Given the description of an element on the screen output the (x, y) to click on. 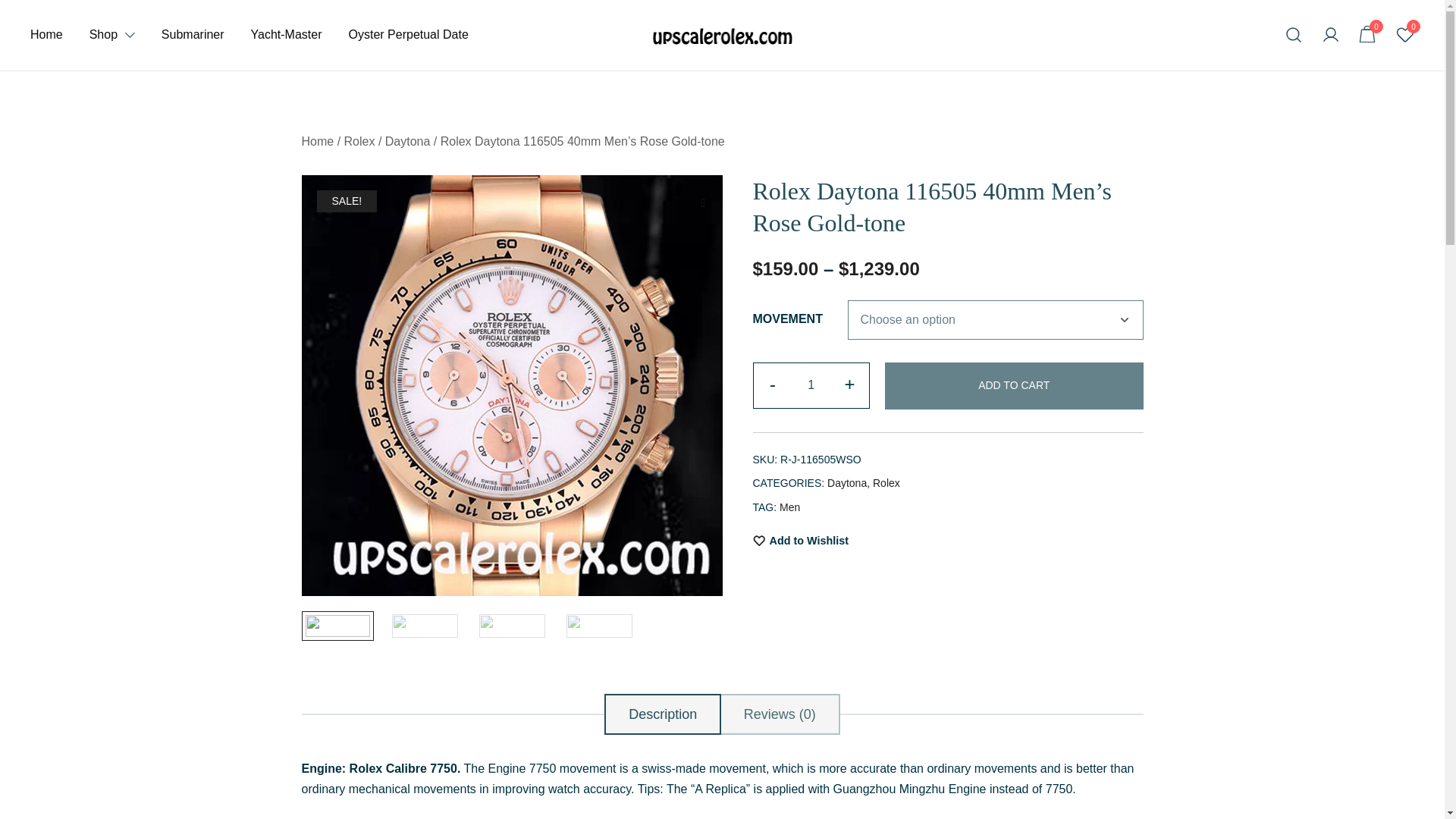
Submariner (192, 35)
0 (1367, 34)
Yacht-Master (285, 35)
Your account (1330, 34)
Your wishlist (1404, 34)
0 (1404, 34)
Home (46, 35)
0 (1367, 33)
View your shopping cart (1367, 33)
Oyster Perpetual Date (408, 35)
